Given the description of an element on the screen output the (x, y) to click on. 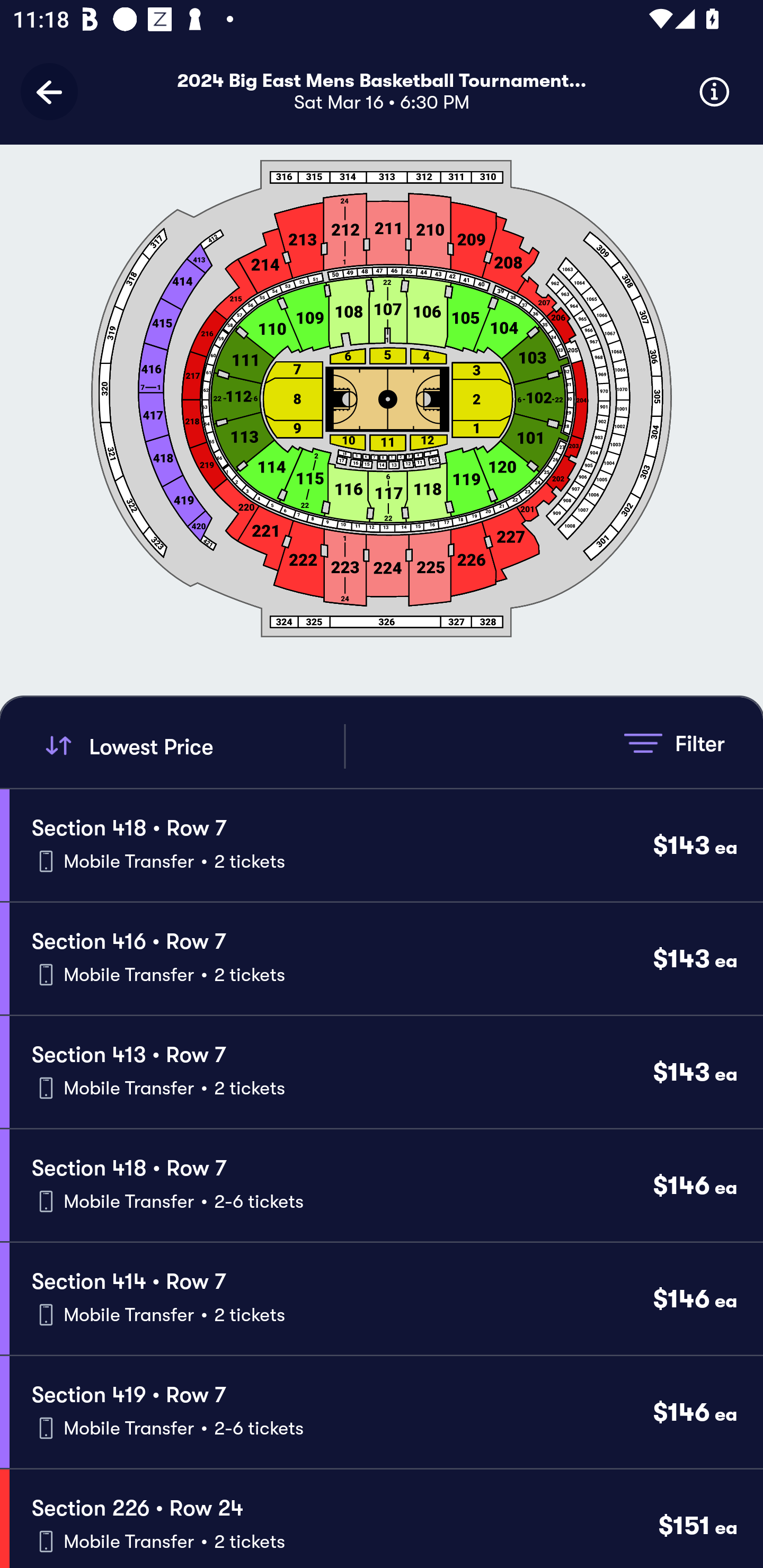
Lowest Price (191, 746)
Filter (674, 743)
